Given the description of an element on the screen output the (x, y) to click on. 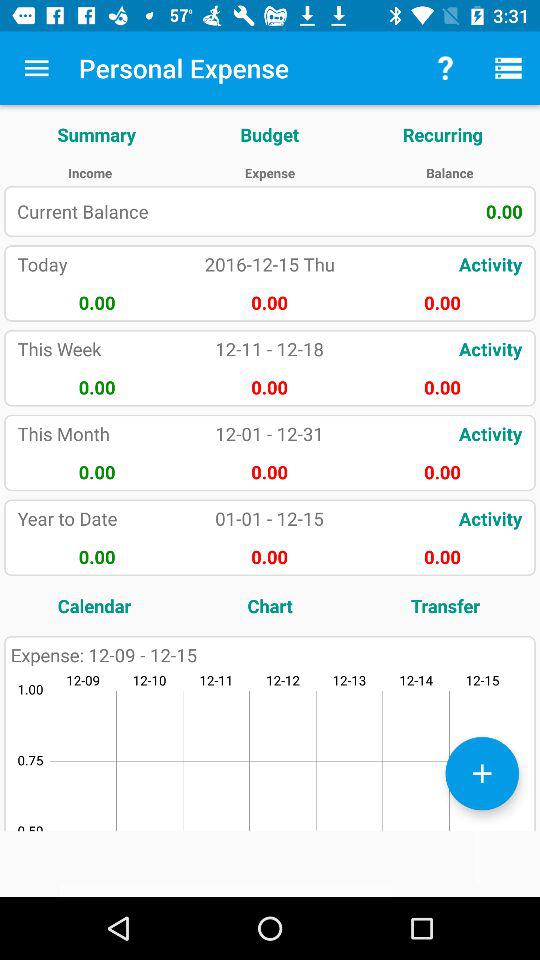
scroll to the transfer item (445, 605)
